Given the description of an element on the screen output the (x, y) to click on. 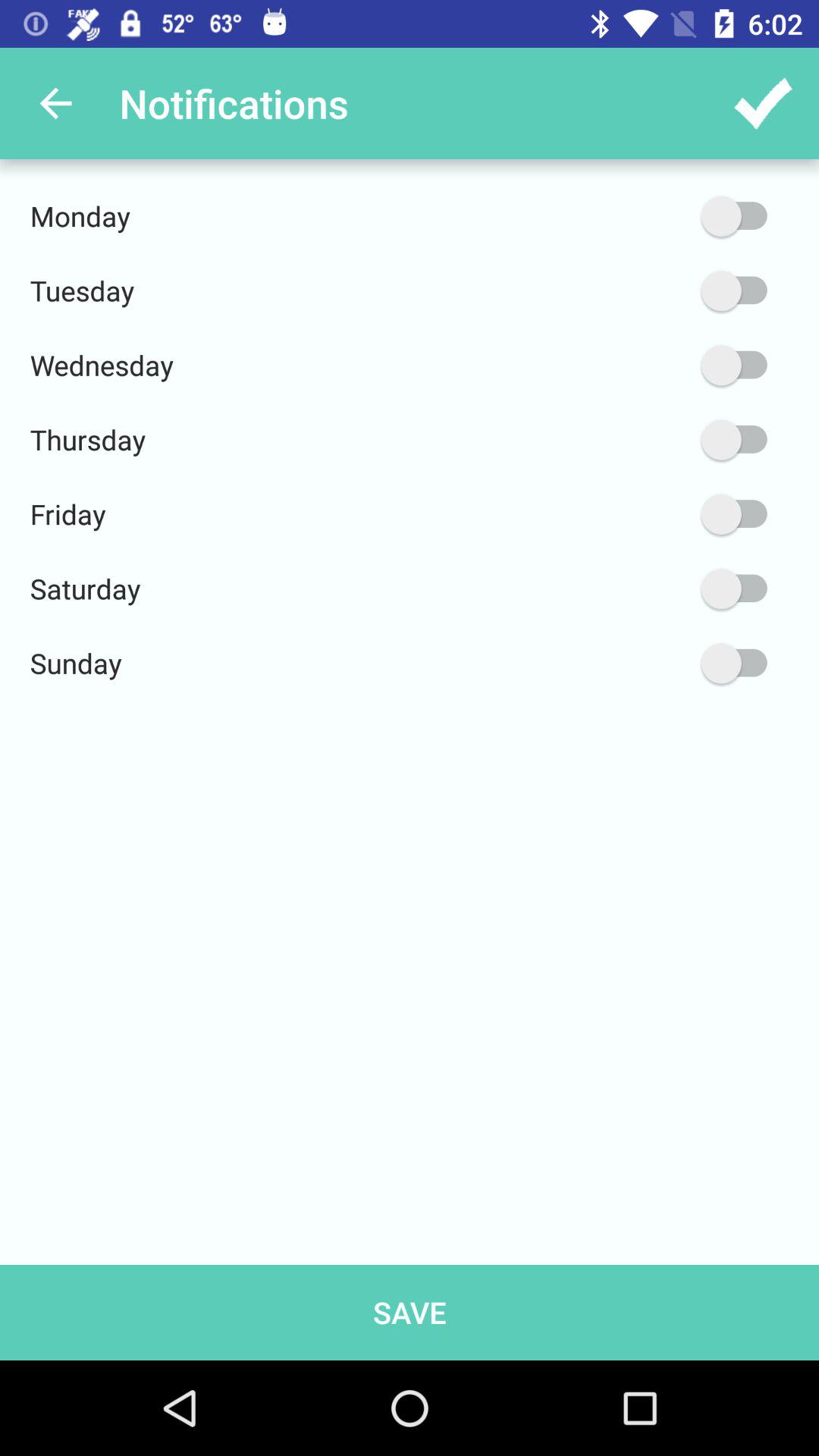
choose icon to the right of the saturday icon (661, 588)
